Given the description of an element on the screen output the (x, y) to click on. 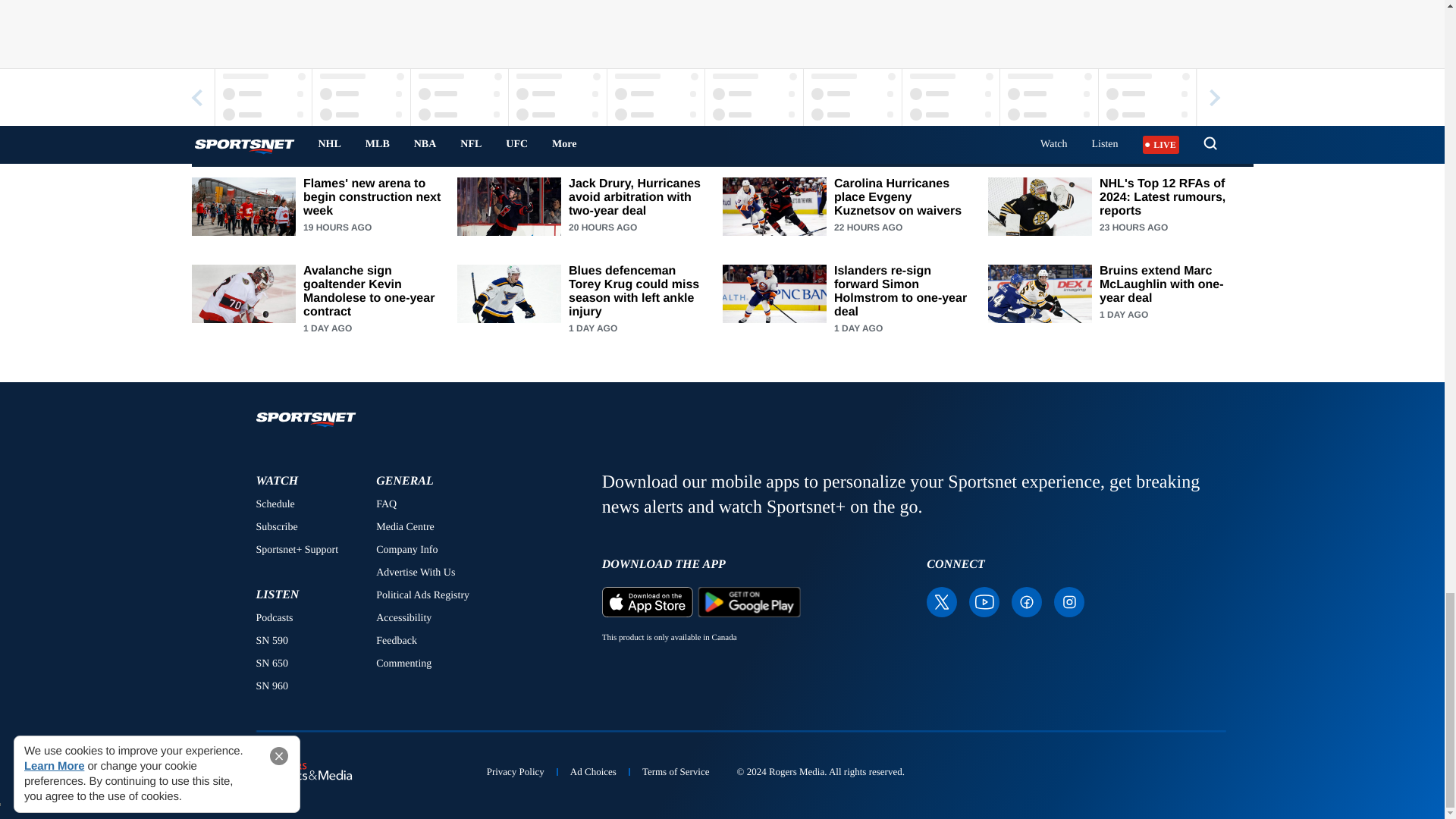
Visit the Viafoura website (936, 87)
